Given the description of an element on the screen output the (x, y) to click on. 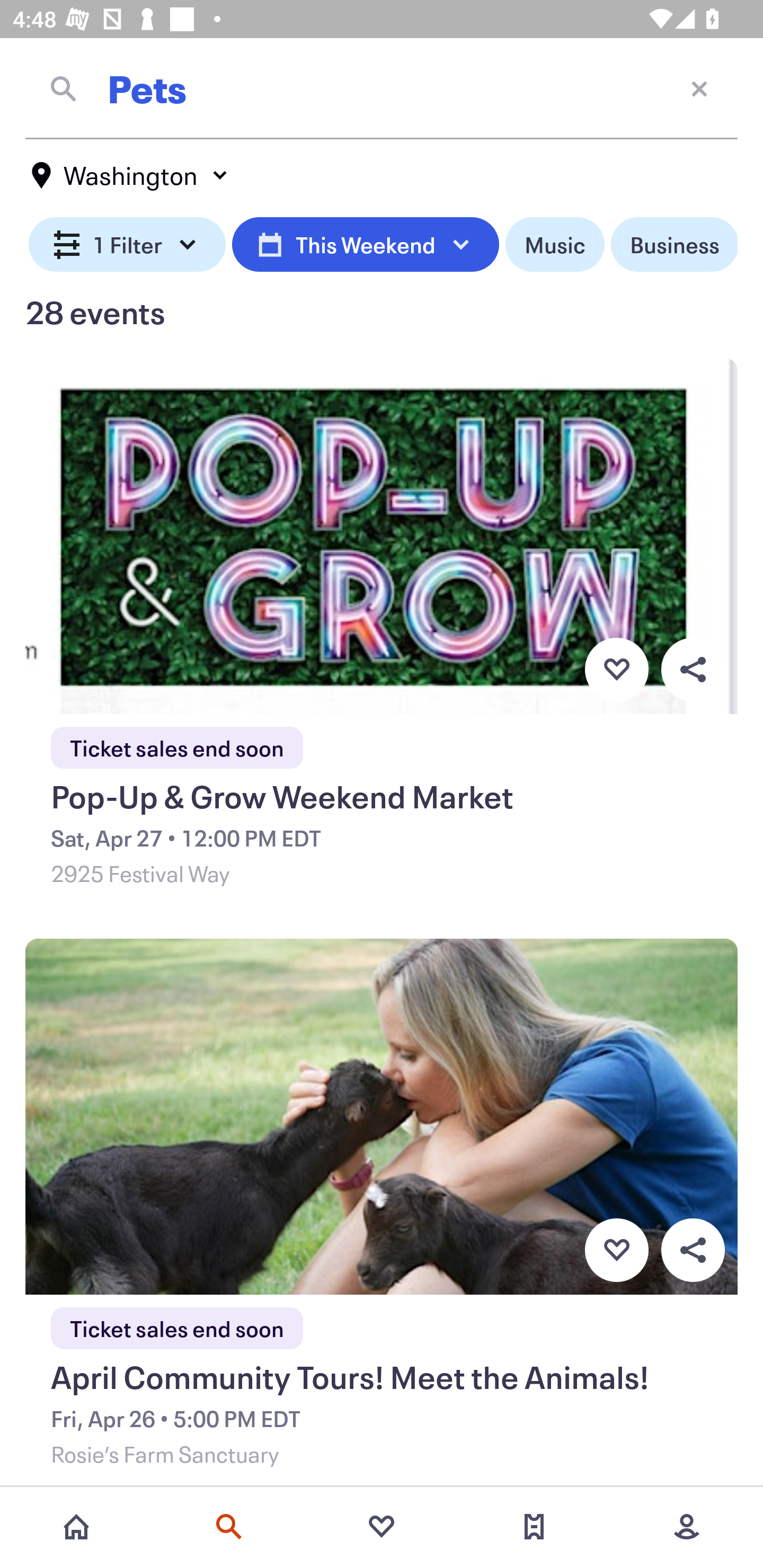
Pets Close current screen (381, 88)
Close current screen (699, 88)
Washington (130, 175)
1 Filter (126, 244)
This Weekend (365, 244)
Music (554, 244)
Business (674, 244)
Favorite button (616, 669)
Overflow menu button (692, 669)
Favorite button (616, 1250)
Overflow menu button (692, 1250)
Home (76, 1526)
Search events (228, 1526)
Favorites (381, 1526)
Tickets (533, 1526)
More (686, 1526)
